Given the description of an element on the screen output the (x, y) to click on. 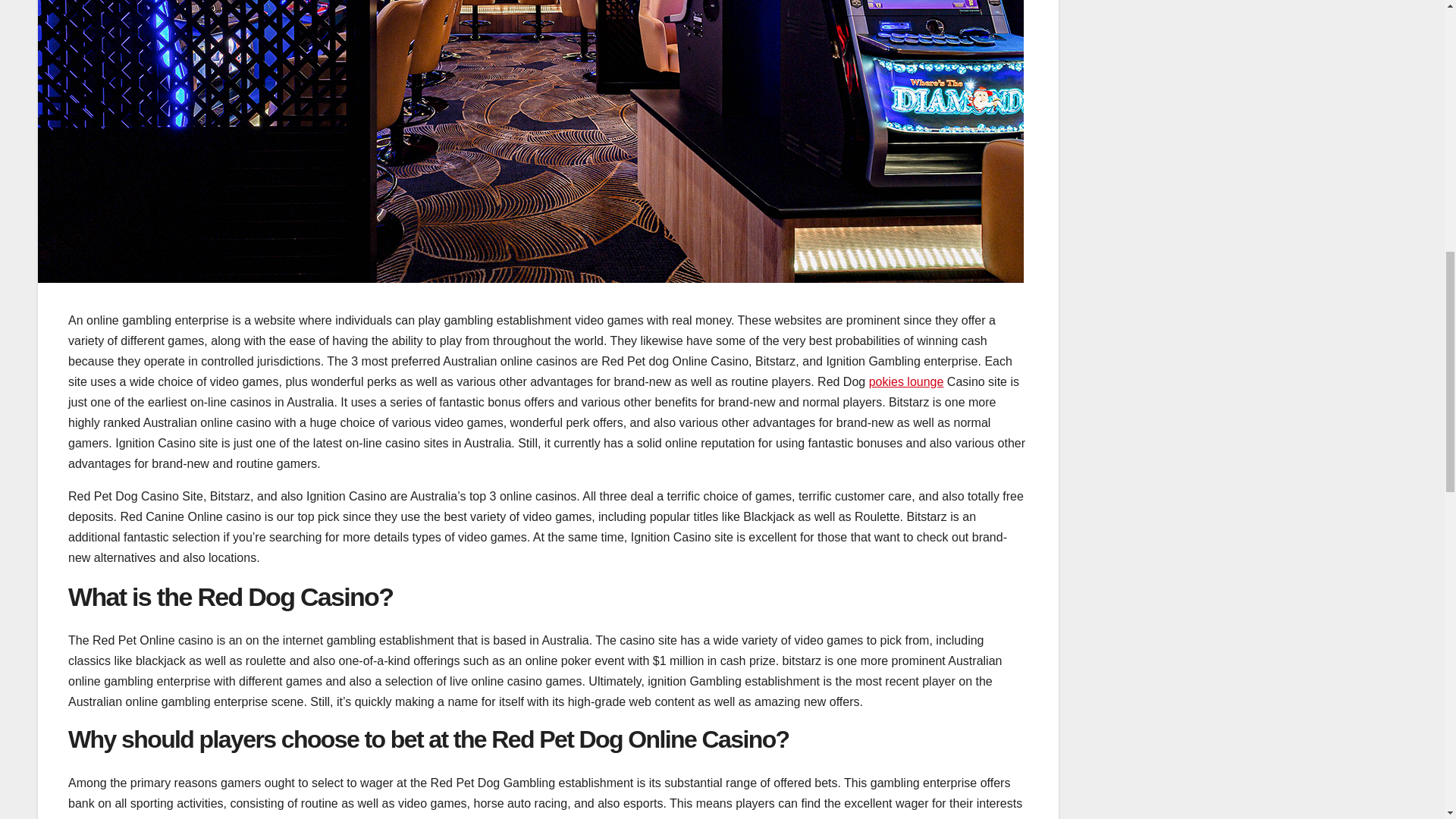
pokies lounge (906, 381)
